Given the description of an element on the screen output the (x, y) to click on. 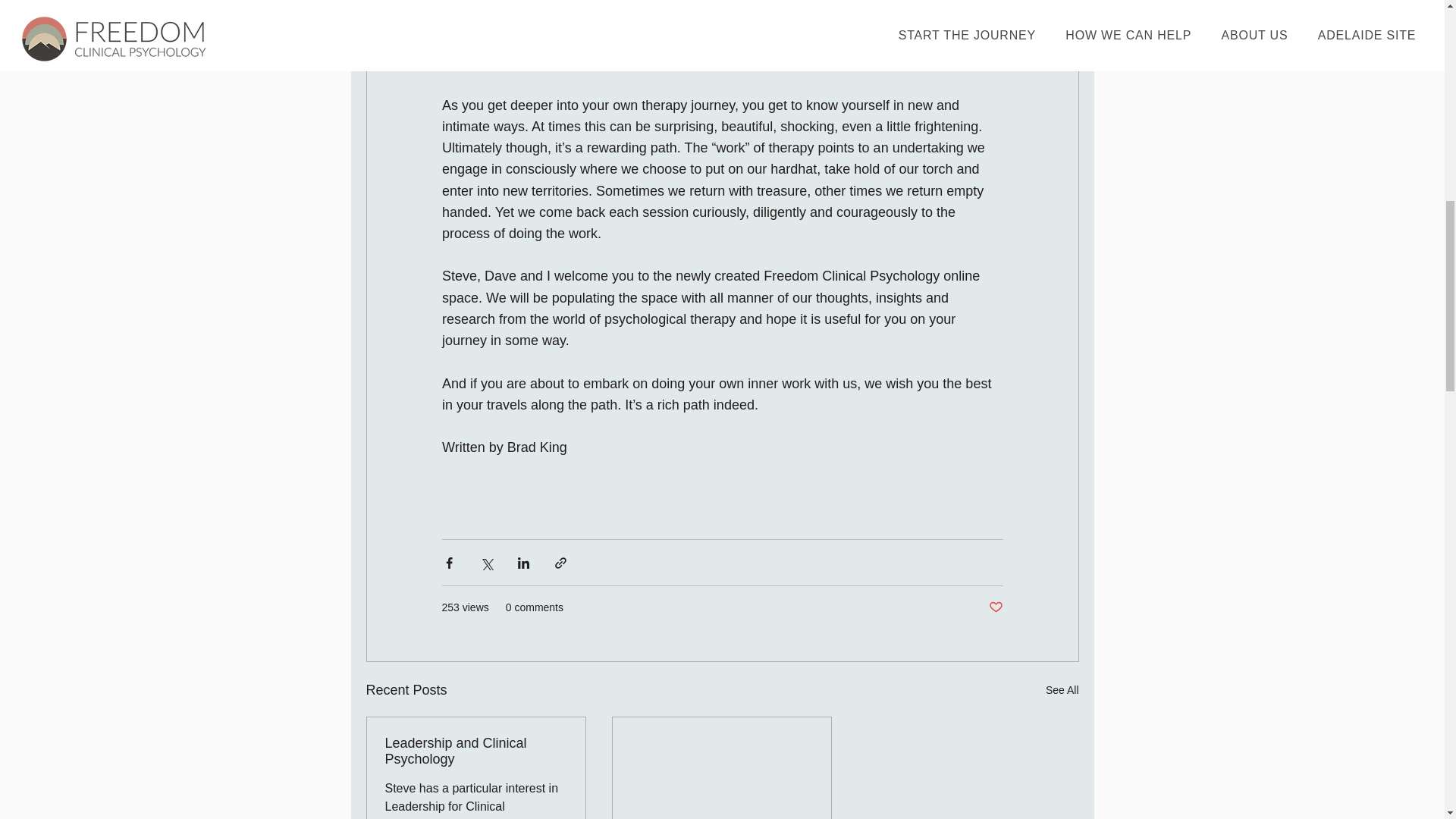
Leadership and Clinical Psychology (476, 751)
Post not marked as liked (995, 607)
See All (1061, 690)
